Given the description of an element on the screen output the (x, y) to click on. 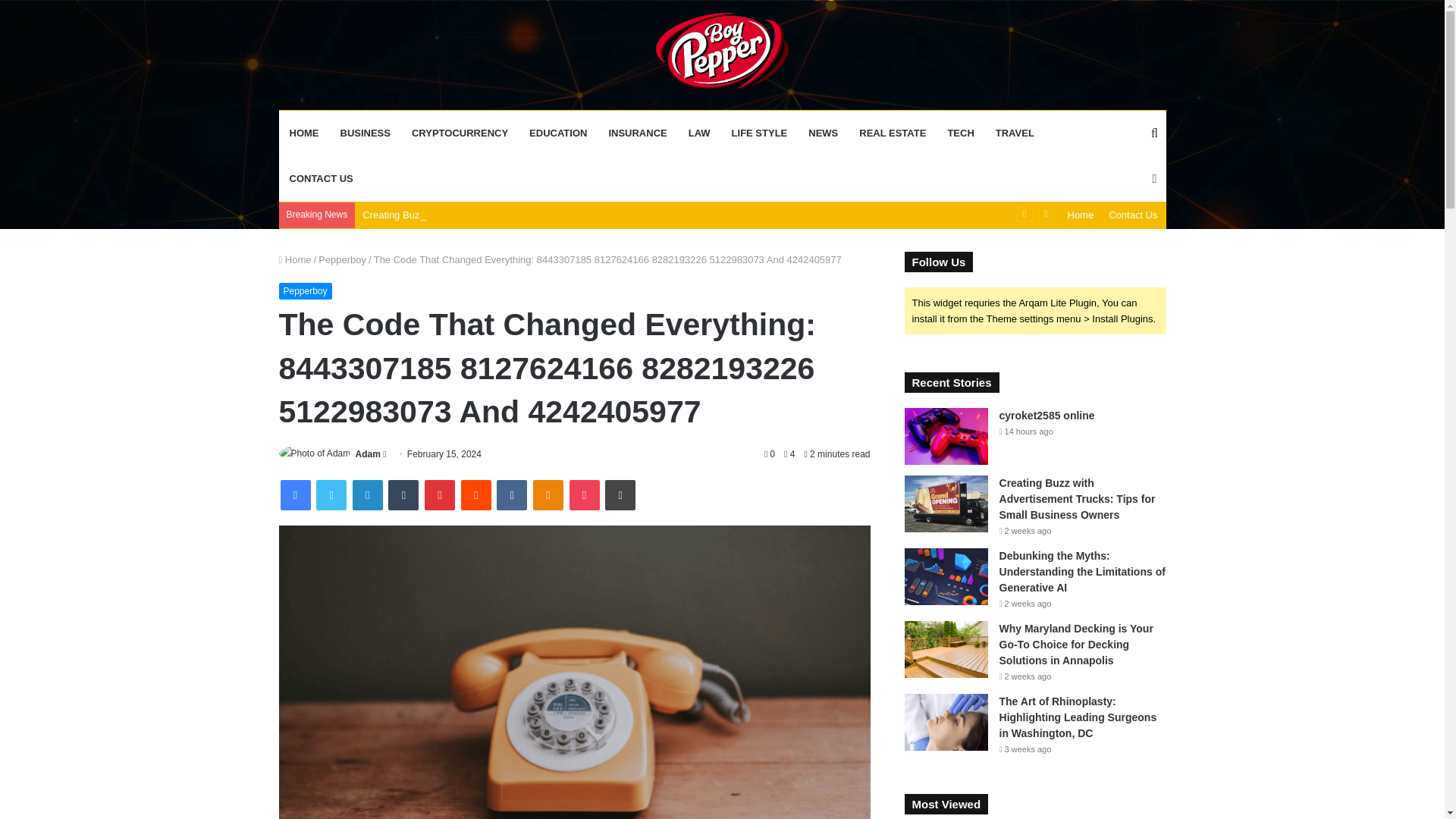
LAW (699, 133)
NEWS (822, 133)
Pinterest (439, 494)
INSURANCE (636, 133)
Facebook (296, 494)
TECH (960, 133)
Print (619, 494)
Reddit (476, 494)
Adam (367, 453)
Adam (367, 453)
